Given the description of an element on the screen output the (x, y) to click on. 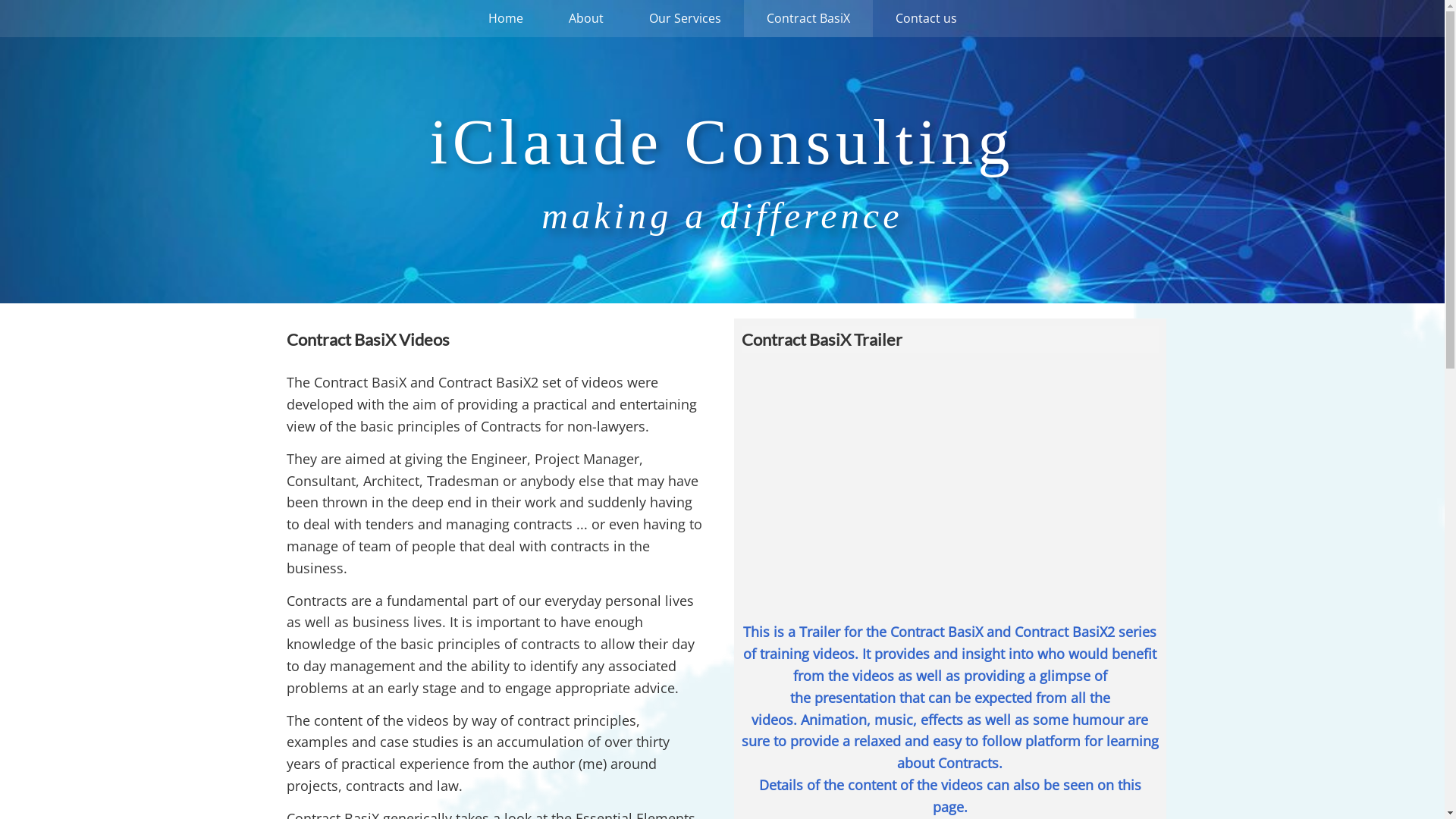
About Element type: text (586, 18)
Home Element type: text (505, 18)
Our Services Element type: text (684, 18)
iClaude Consulting Element type: text (722, 141)
Contract BasiX & Contract BasiX2 Element type: hover (949, 477)
Contact us Element type: text (925, 18)
Contract BasiX Element type: text (807, 18)
